Given the description of an element on the screen output the (x, y) to click on. 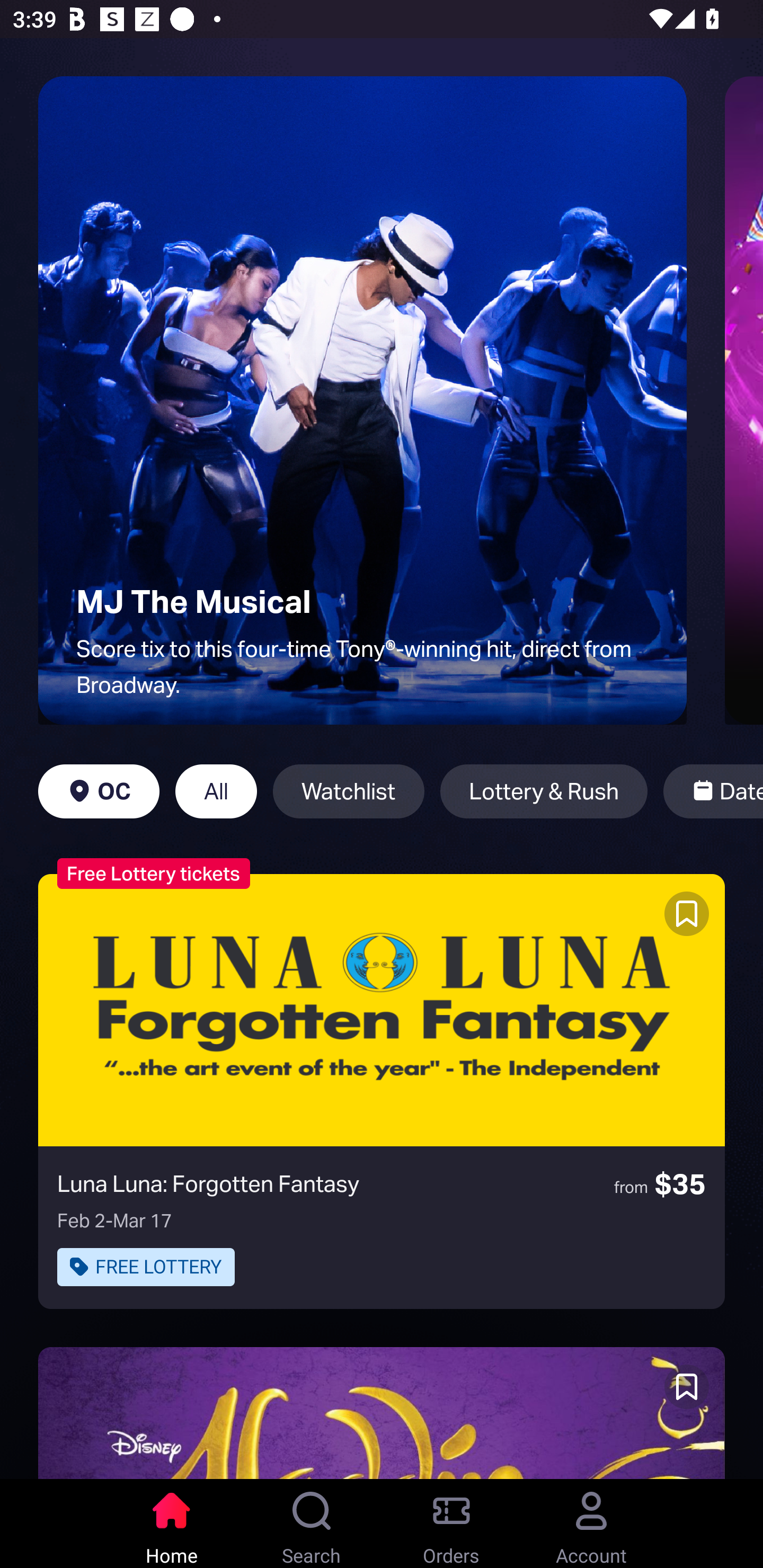
OC (98, 791)
All (216, 791)
Watchlist (348, 791)
Lottery & Rush (543, 791)
Search (311, 1523)
Orders (451, 1523)
Account (591, 1523)
